Given the description of an element on the screen output the (x, y) to click on. 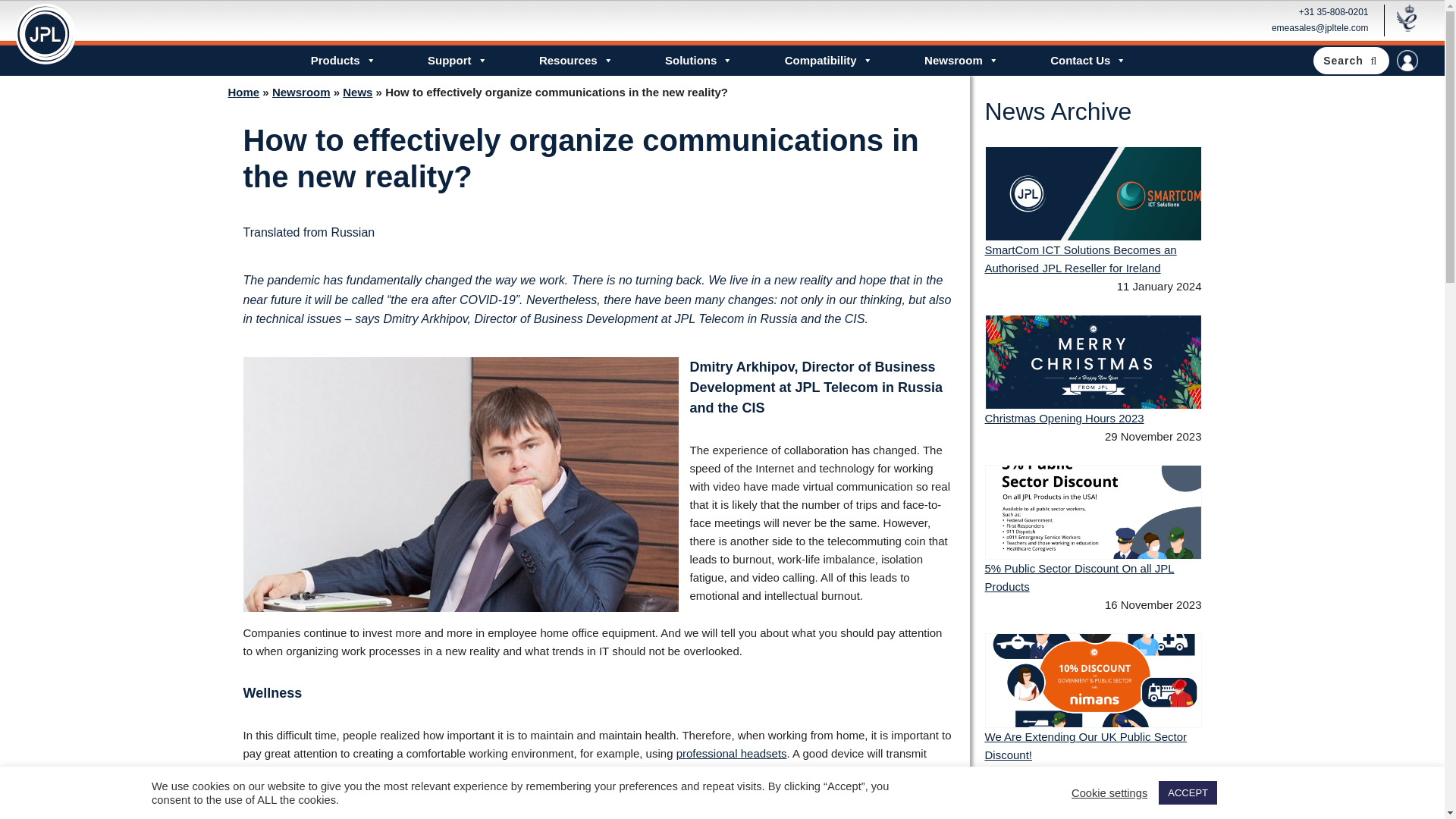
Partner Portal (1407, 60)
